Given the description of an element on the screen output the (x, y) to click on. 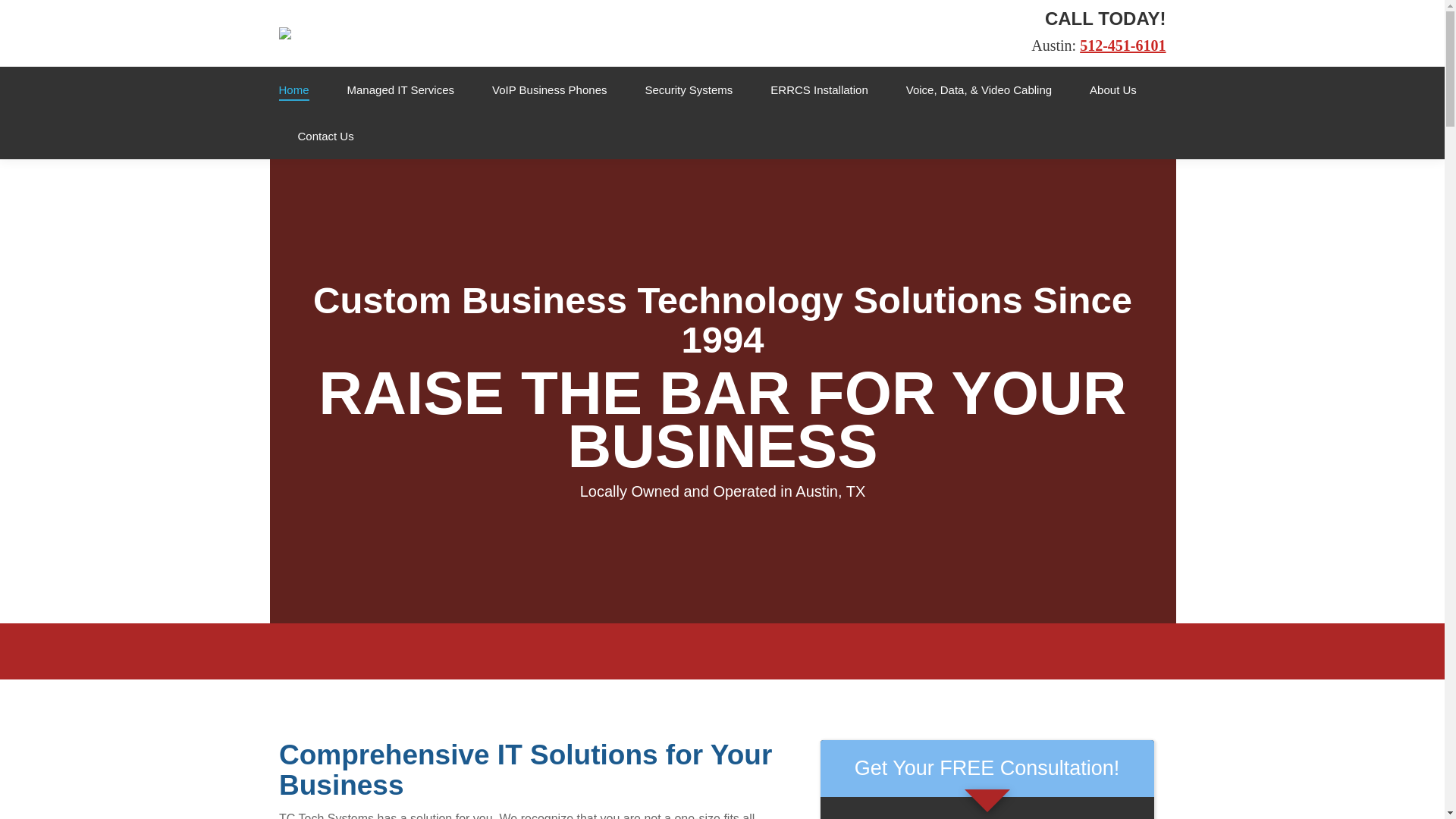
ERRCS Installation (818, 89)
Security Systems (688, 89)
512-451-6101 (1123, 45)
Contact Us (325, 135)
Managed IT Services (400, 89)
VoIP Business Phones (549, 89)
Home (293, 89)
About Us (1113, 89)
